Given the description of an element on the screen output the (x, y) to click on. 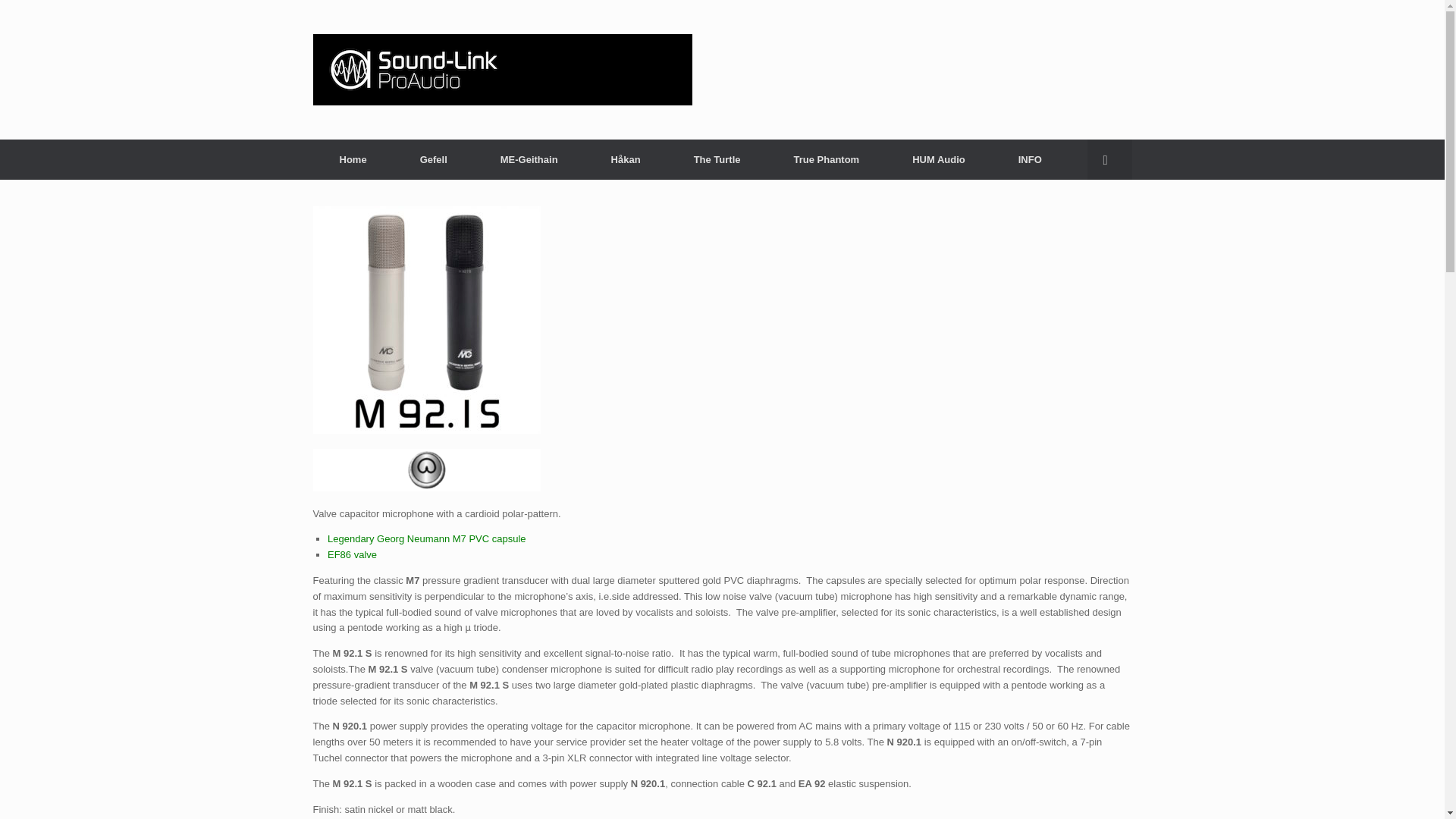
Home (353, 159)
Sound-Link ProAudio (502, 69)
Gefell (433, 159)
